Given the description of an element on the screen output the (x, y) to click on. 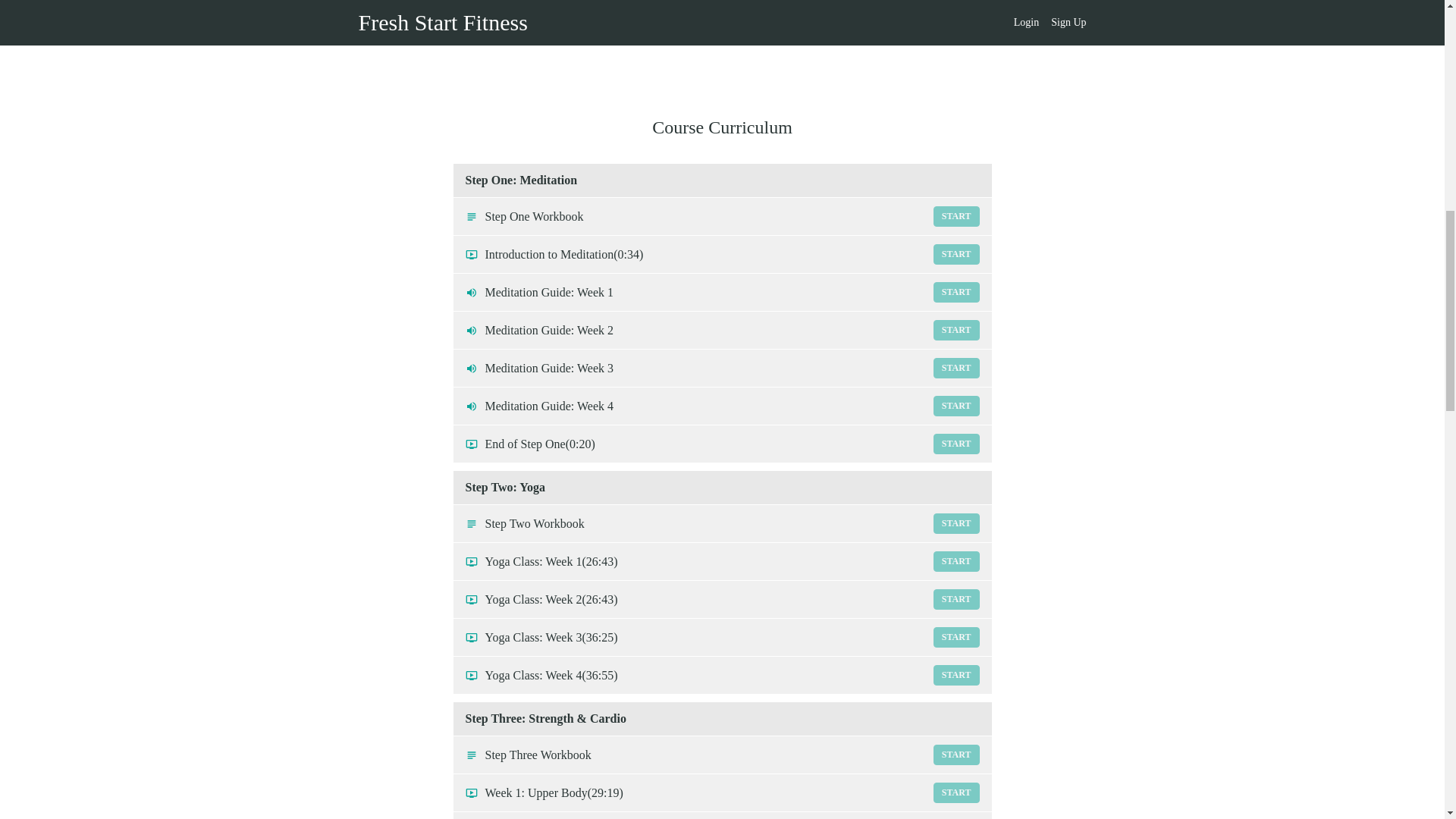
START (721, 216)
START (956, 367)
START (721, 523)
START (956, 405)
START (956, 291)
START (721, 330)
START (956, 523)
START (956, 444)
START (956, 637)
START (956, 792)
